Given the description of an element on the screen output the (x, y) to click on. 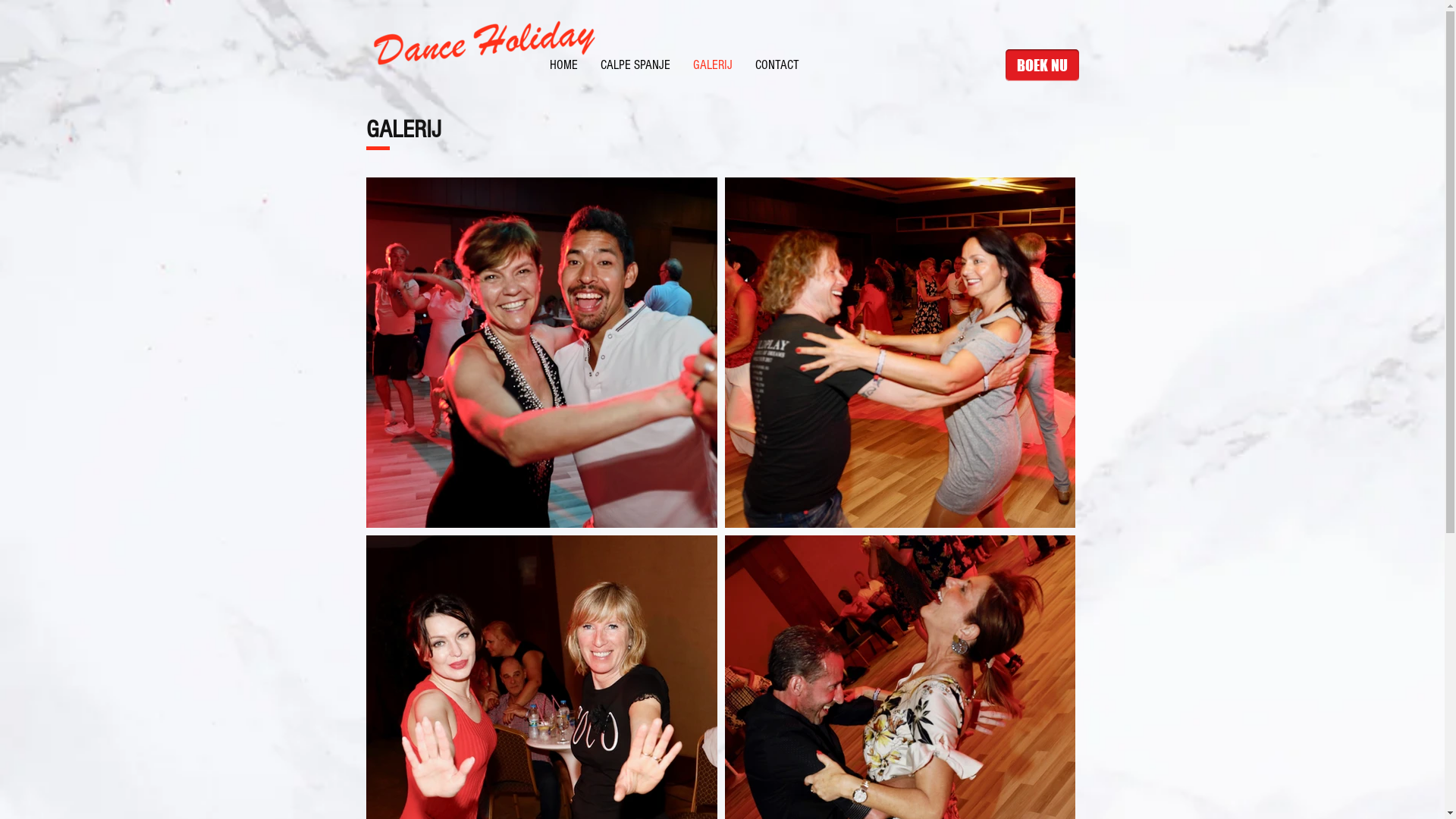
BOEK NU Element type: text (1042, 65)
CALPE SPANJE Element type: text (634, 65)
CONTACT Element type: text (776, 65)
GALERIJ Element type: text (711, 65)
HOME Element type: text (563, 65)
